Given the description of an element on the screen output the (x, y) to click on. 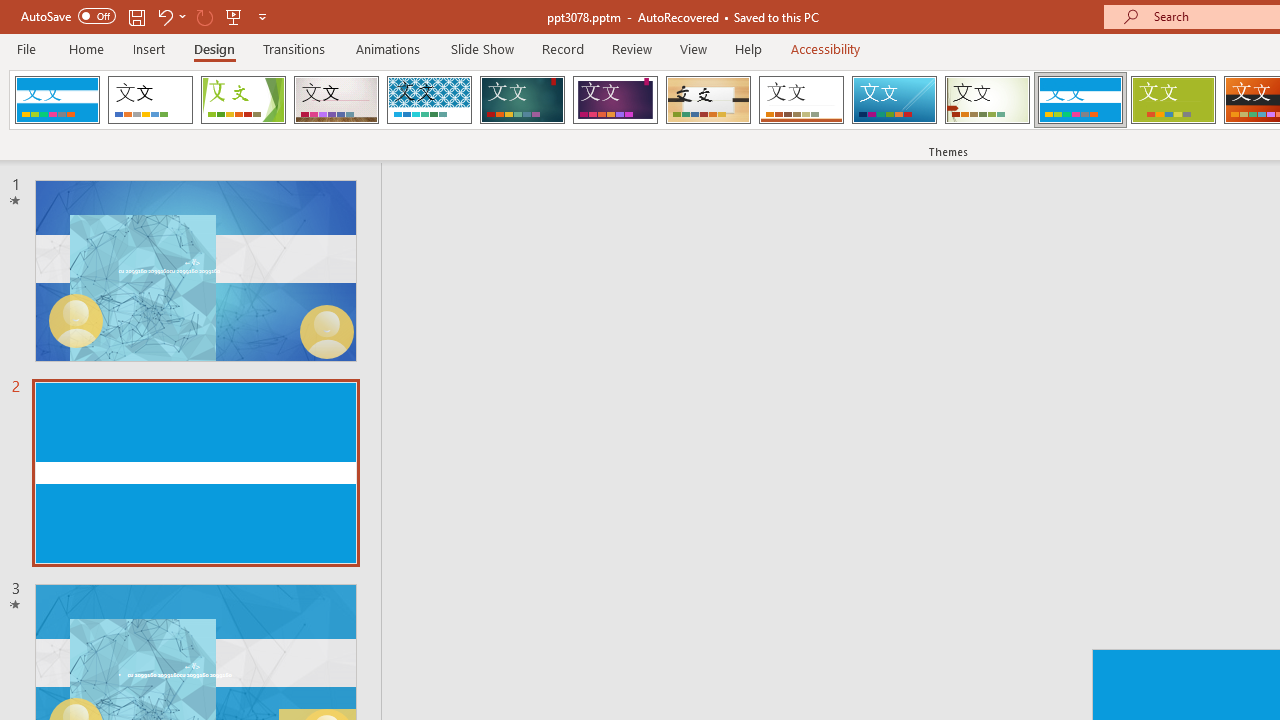
Basis (1172, 100)
Dividend (57, 100)
Integral (429, 100)
Banded (1080, 100)
